Given the description of an element on the screen output the (x, y) to click on. 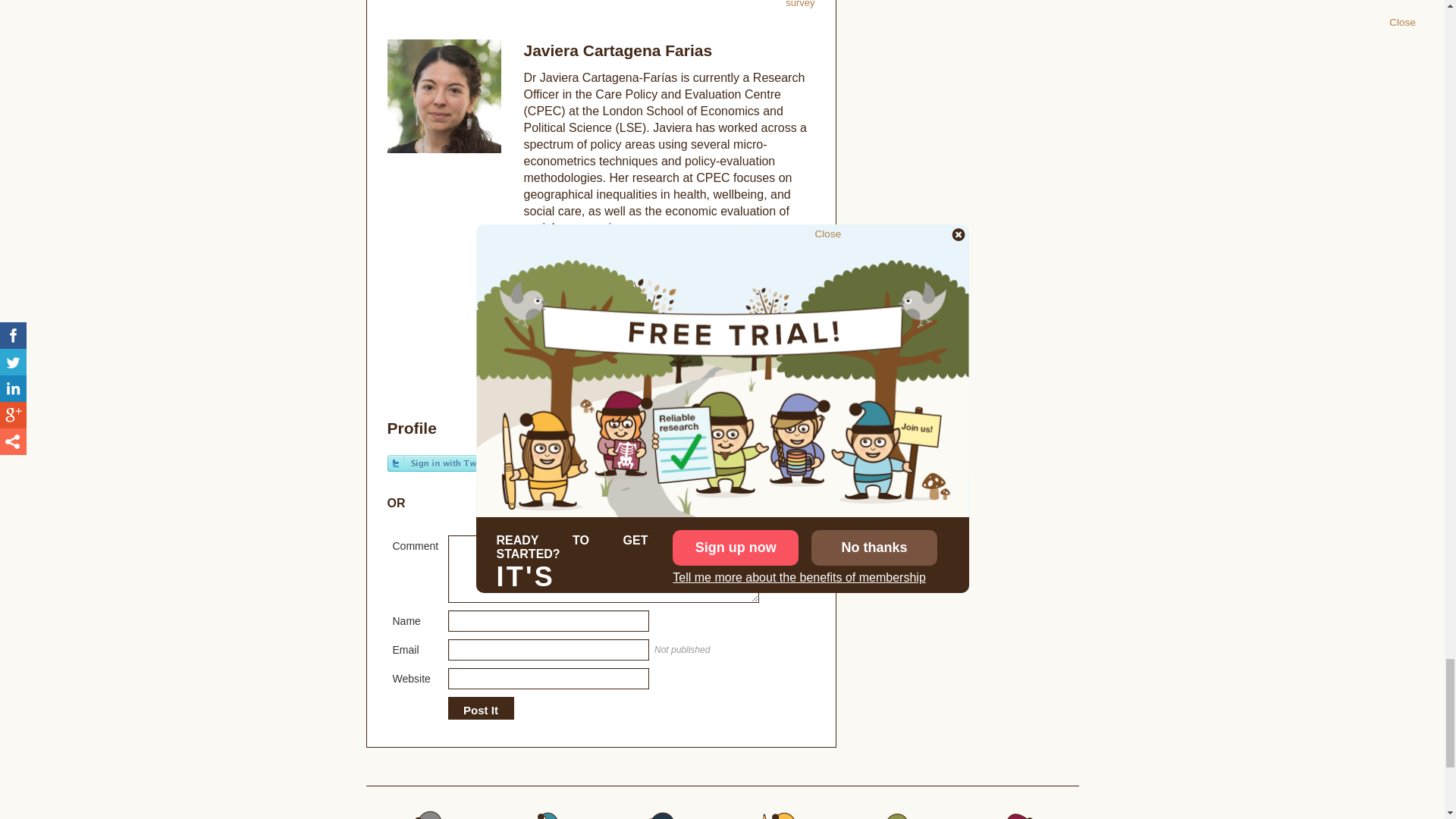
Post It (479, 709)
Javiera Cartagena Farias (616, 49)
Twitter (531, 303)
Javiera Cartagena Farias (544, 253)
